Given the description of an element on the screen output the (x, y) to click on. 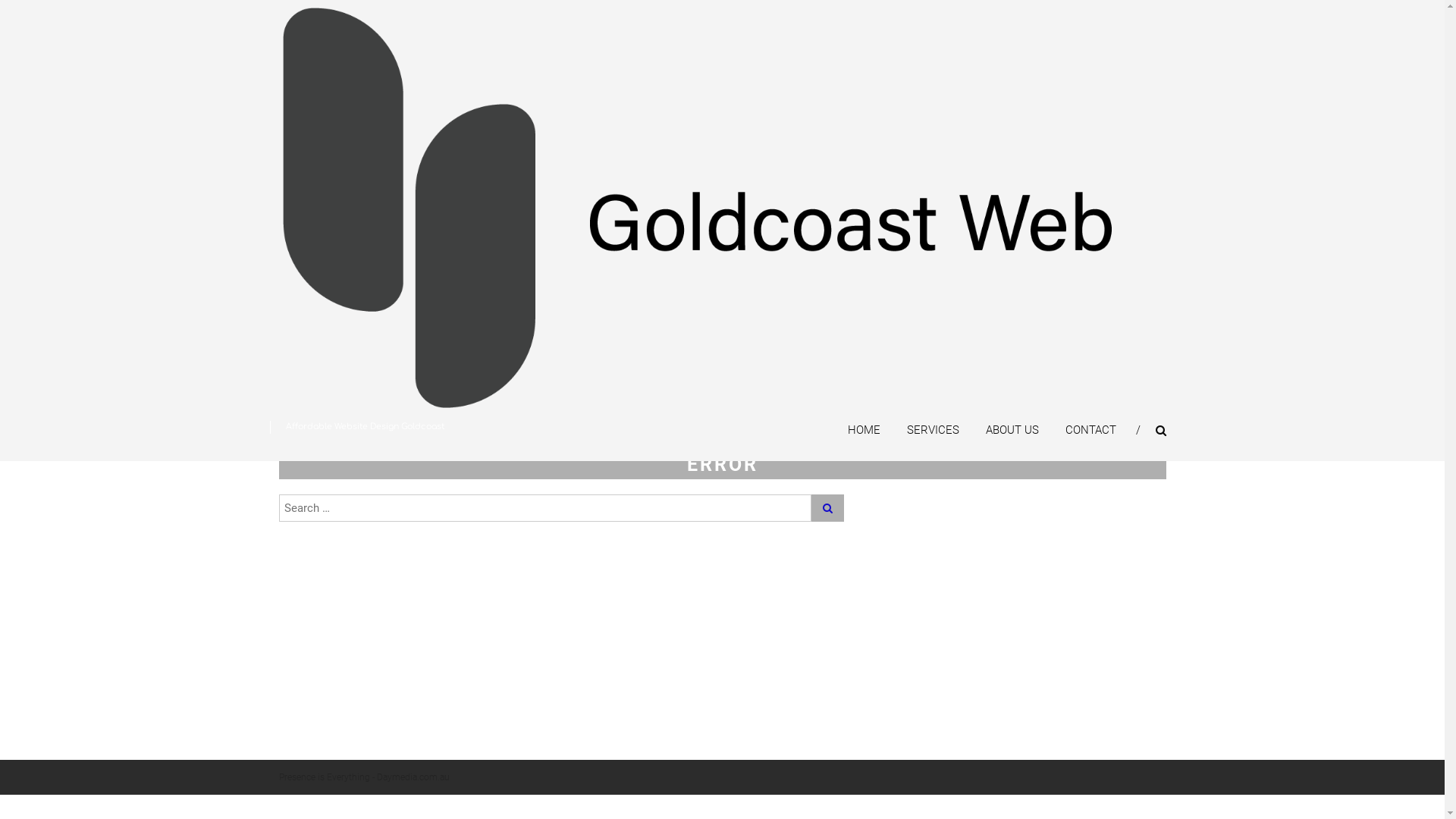
CONTACT Element type: text (1089, 429)
ABOUT US Element type: text (1011, 429)
SERVICES Element type: text (932, 429)
Search Element type: text (827, 507)
Search Element type: text (1231, 409)
HOME Element type: text (863, 429)
